Given the description of an element on the screen output the (x, y) to click on. 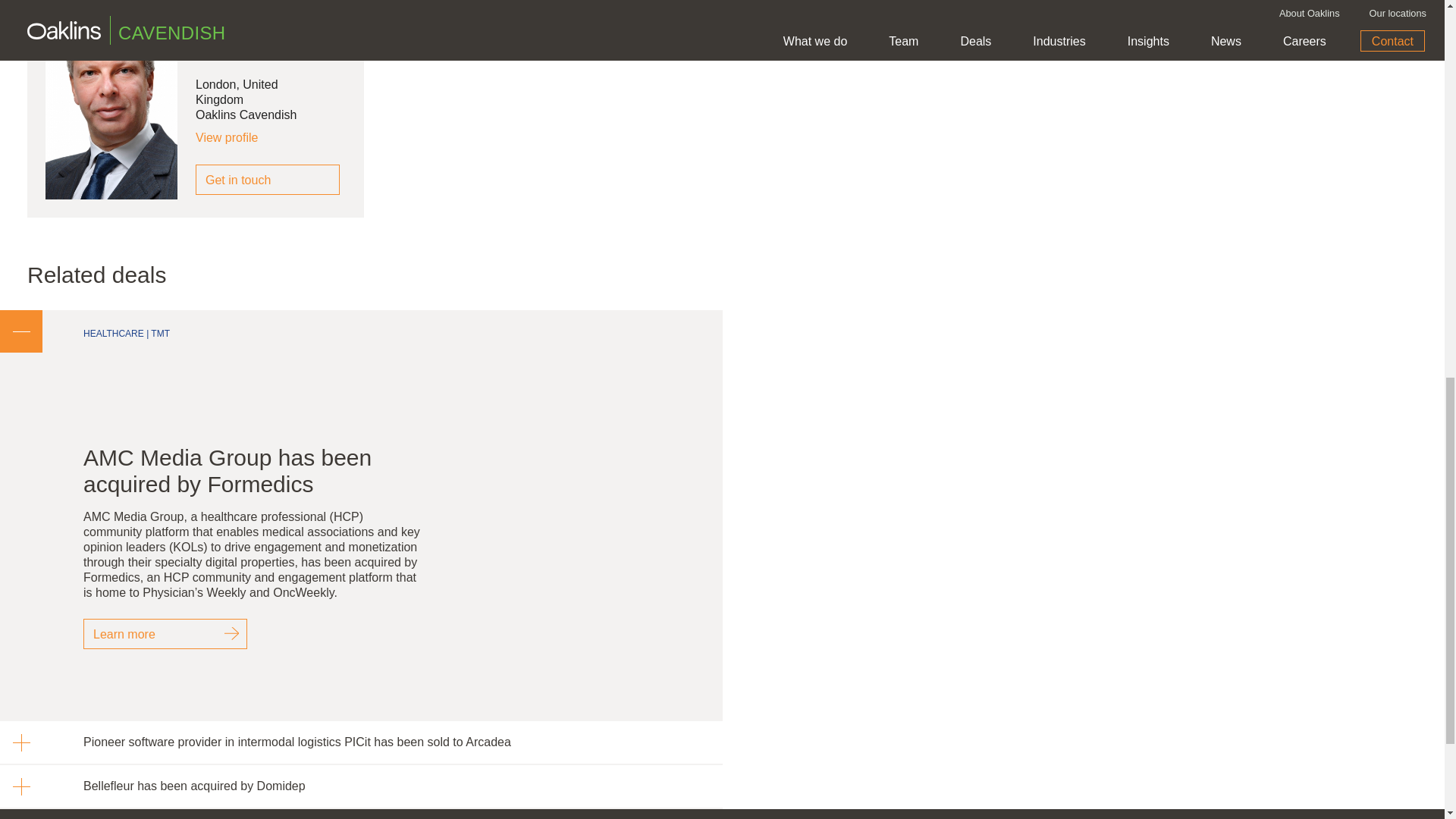
Learn more (164, 634)
View profile (237, 137)
Get in touch (267, 179)
